Given the description of an element on the screen output the (x, y) to click on. 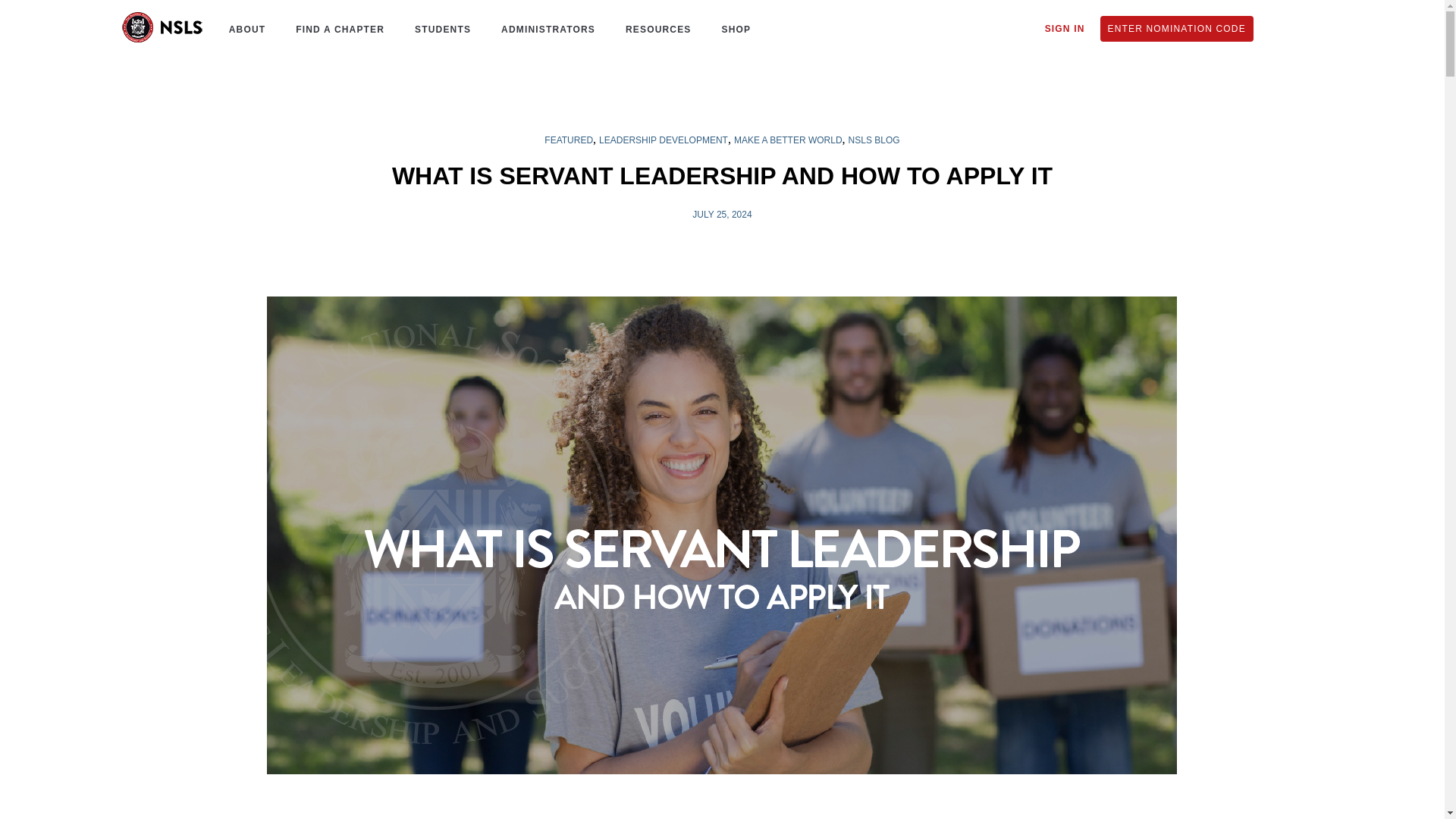
FIND A CHAPTER (336, 29)
ABOUT (243, 29)
STUDENTS (438, 29)
ADMINISTRATORS (544, 29)
nsls logo (162, 26)
RESOURCES (654, 29)
